Given the description of an element on the screen output the (x, y) to click on. 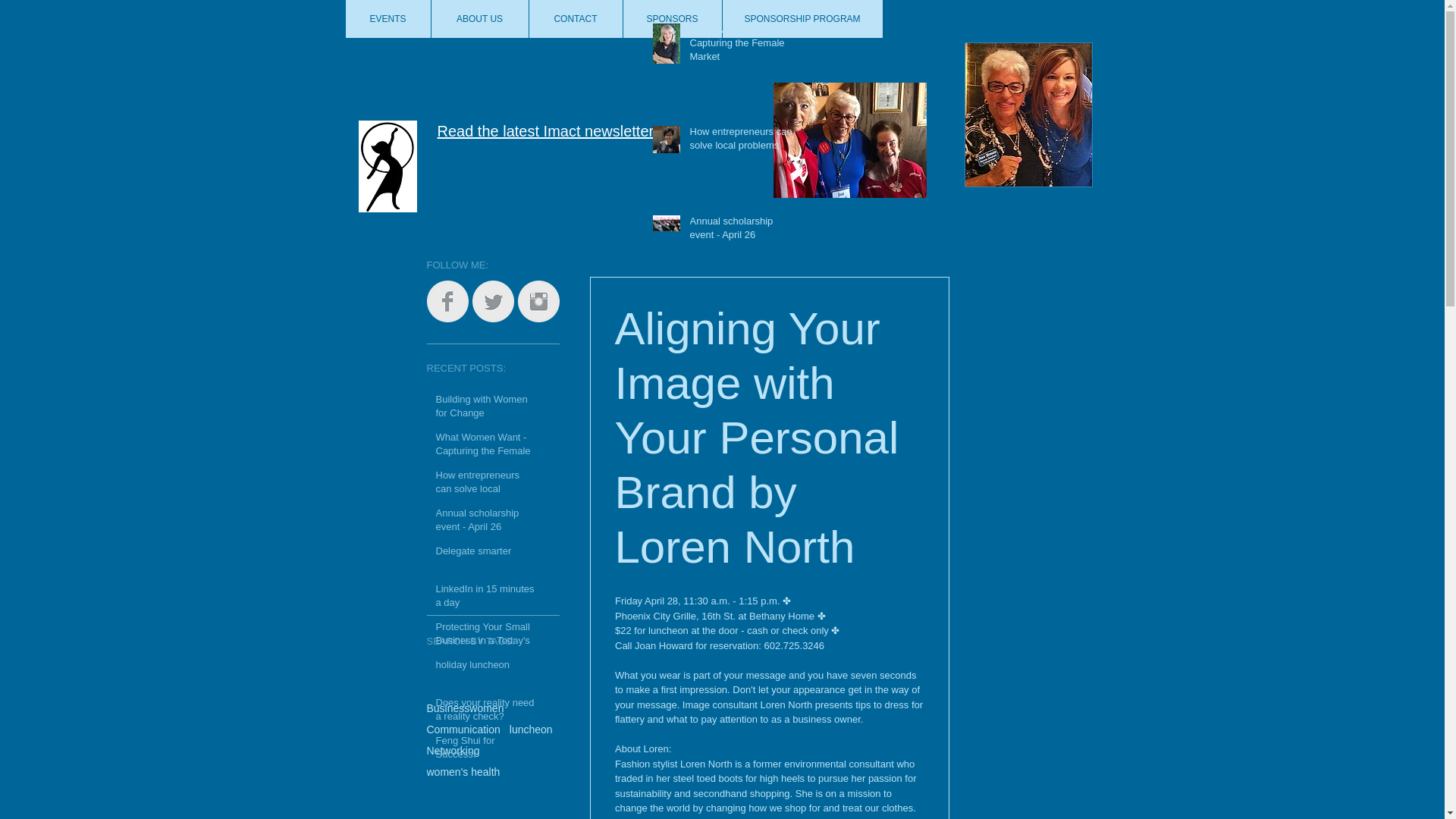
women's health (462, 771)
LinkedIn in 15 minutes a day (485, 598)
Delegate smarter (485, 554)
Feng Shui for Success! (485, 750)
Read the latest Imact newsletter! (547, 130)
luncheon (531, 729)
EVENTS (388, 18)
What Women Want - Capturing the Female Market (485, 454)
What Women Want - Capturing the Female Market (741, 46)
holiday luncheon (741, 589)
Annual scholarship event - April 26 (741, 231)
ABOUT US (479, 18)
SPONSORSHIP PROGRAM (802, 18)
Feng Shui for Success! (741, 777)
